Given the description of an element on the screen output the (x, y) to click on. 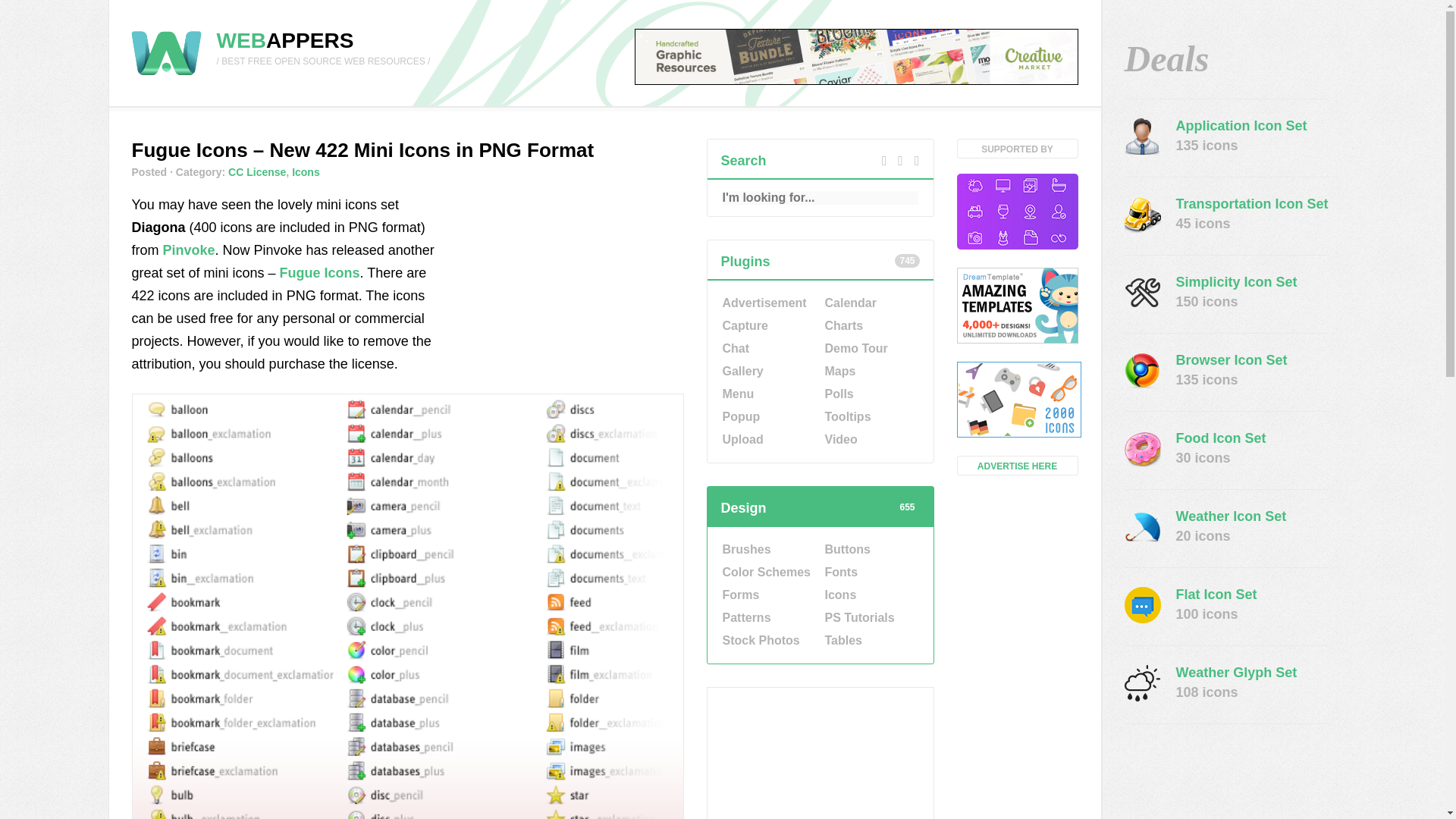
Fugue Icons (319, 272)
PS Tutorials (870, 617)
Charts (870, 325)
Upload (767, 439)
Forms (767, 594)
WEBAPPERS (284, 40)
Capture (767, 325)
Buttons (870, 549)
Icons (870, 594)
Pinvoke (189, 249)
CC License (256, 172)
Color Schemes (767, 572)
Polls (870, 394)
Line Icons (1017, 212)
